Given the description of an element on the screen output the (x, y) to click on. 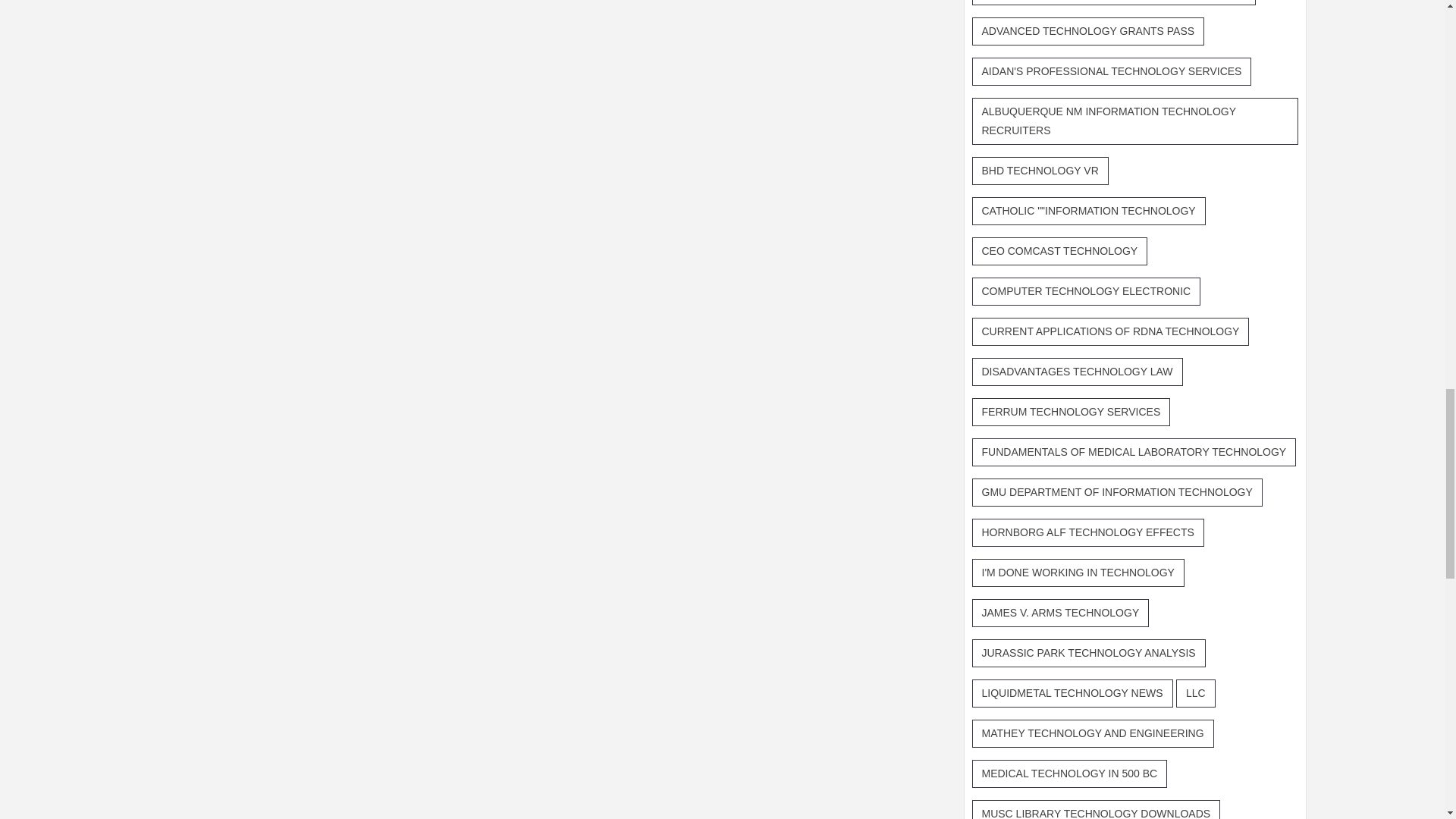
ABSORBABLE MODIFIED POLYMERS TECHNOLOGY (1114, 2)
ADVANCED TECHNOLOGY GRANTS PASS (1088, 31)
